Given the description of an element on the screen output the (x, y) to click on. 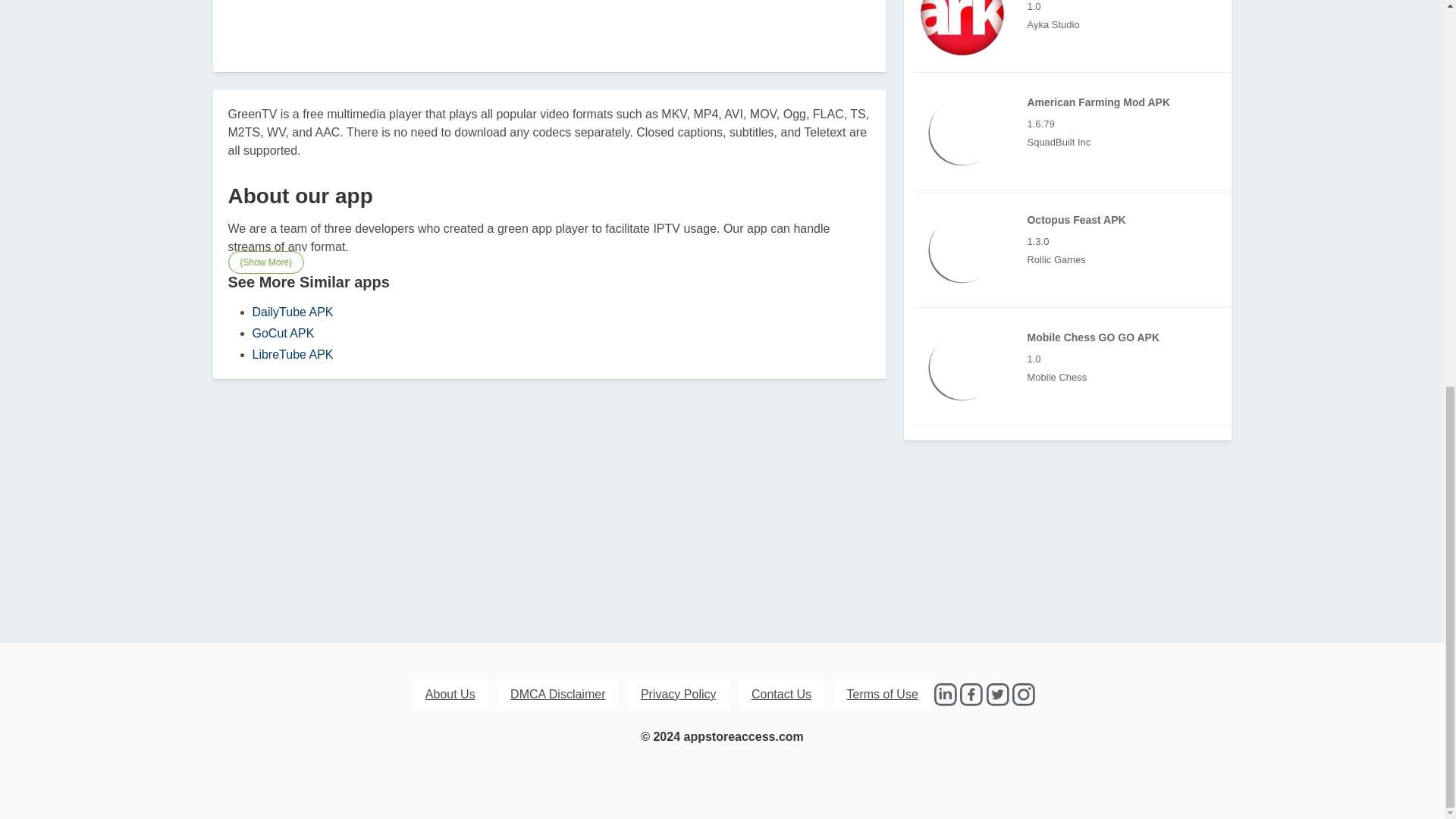
DailyTube APK (292, 310)
LibreTube APK (292, 353)
Advertisement (548, 20)
GoCut APK (282, 332)
